Given the description of an element on the screen output the (x, y) to click on. 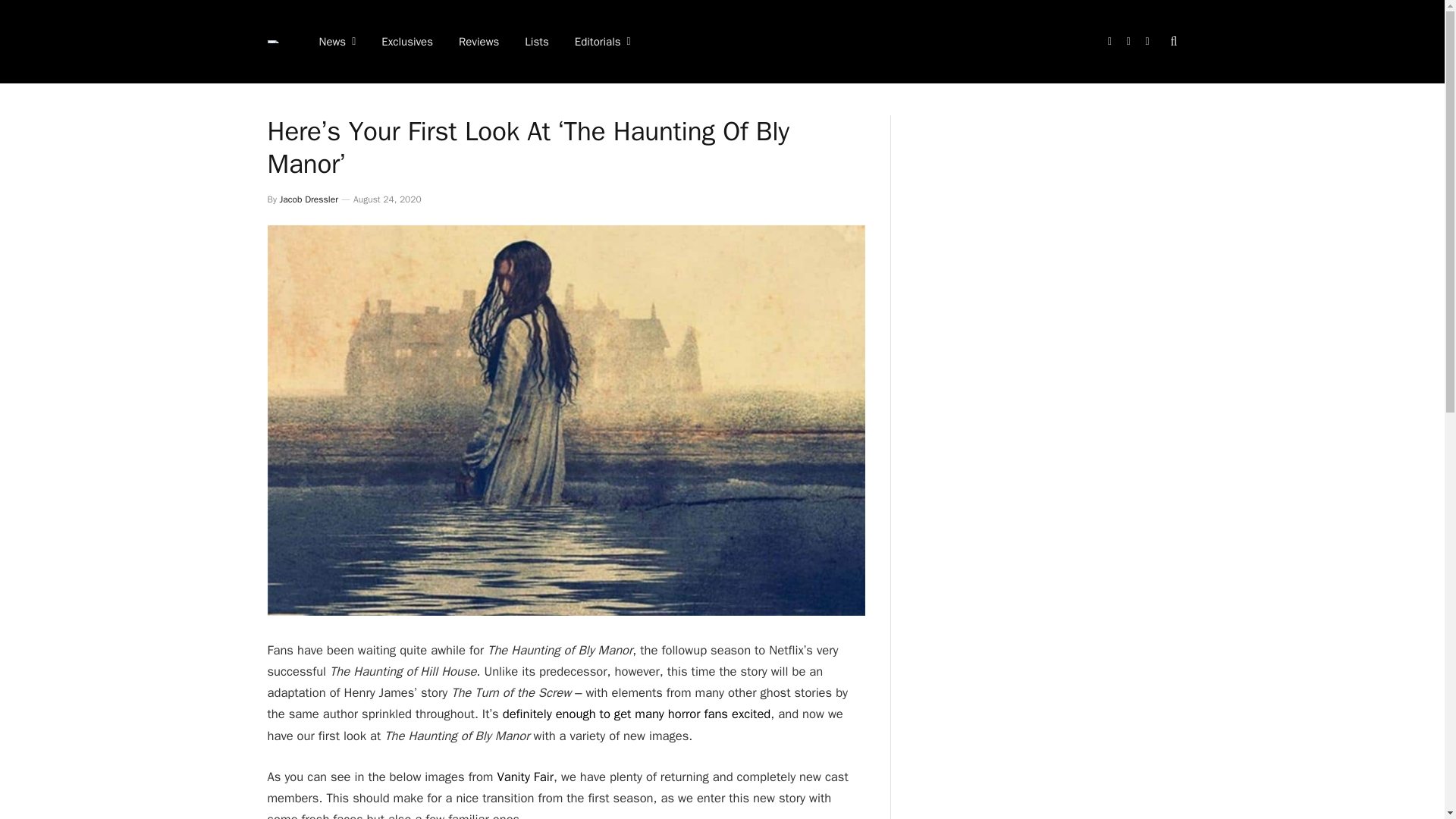
Jacob Dressler (308, 199)
Editorials (602, 41)
Posts by Jacob Dressler (308, 199)
Exclusives (406, 41)
definitely enough to get many horror fans excited (636, 713)
Vanity Fair (524, 776)
